Given the description of an element on the screen output the (x, y) to click on. 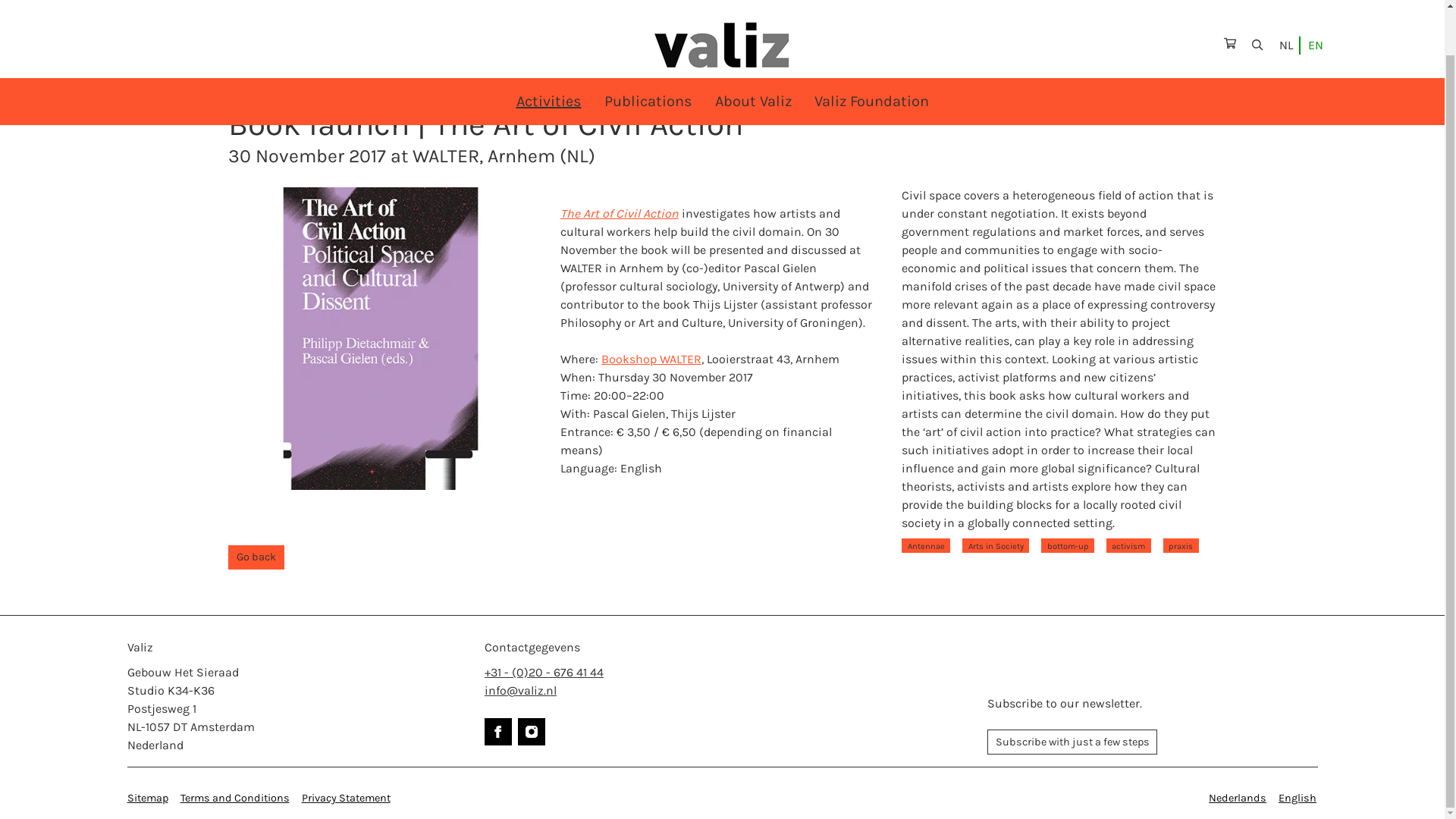
Nederlands (1237, 797)
Valiz on Facebook (498, 731)
Subscribe with just a few steps (1072, 741)
Sitemap (148, 797)
activism (1128, 545)
bottom-up (1067, 545)
Open the search form (1257, 4)
Publications (647, 53)
Valiz Foundation (870, 53)
Terms and Conditions (234, 797)
English (1297, 797)
Antennae (925, 545)
About Valiz (752, 53)
Naar beginpagina van Valiz.nl (722, 11)
Go back (255, 557)
